Given the description of an element on the screen output the (x, y) to click on. 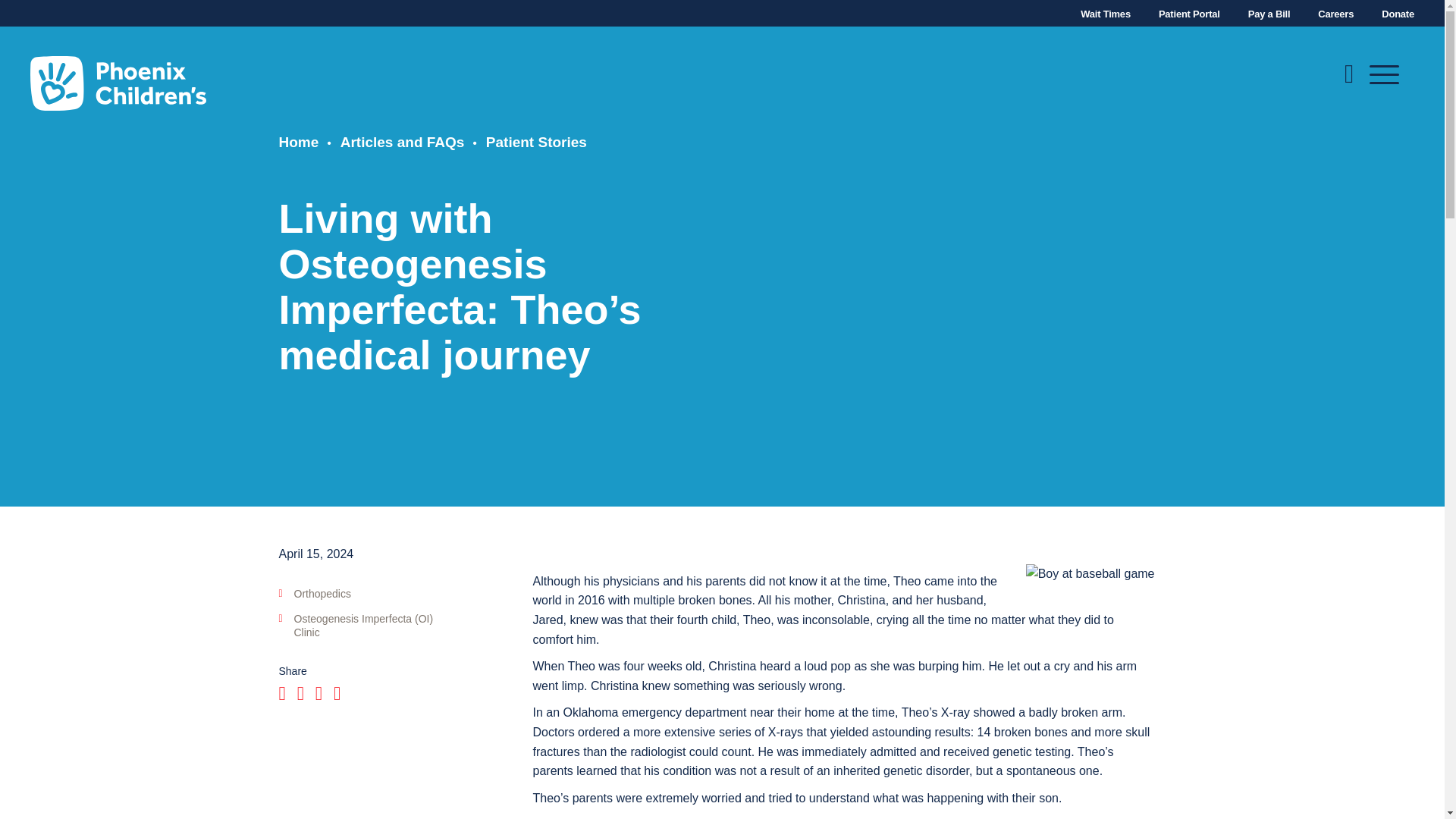
Phoenix Children's Hospital (118, 83)
Wait Times (1105, 13)
Pay a Bill (1268, 13)
Careers (1335, 13)
Donate (1397, 13)
Patient Portal (1189, 13)
